Given the description of an element on the screen output the (x, y) to click on. 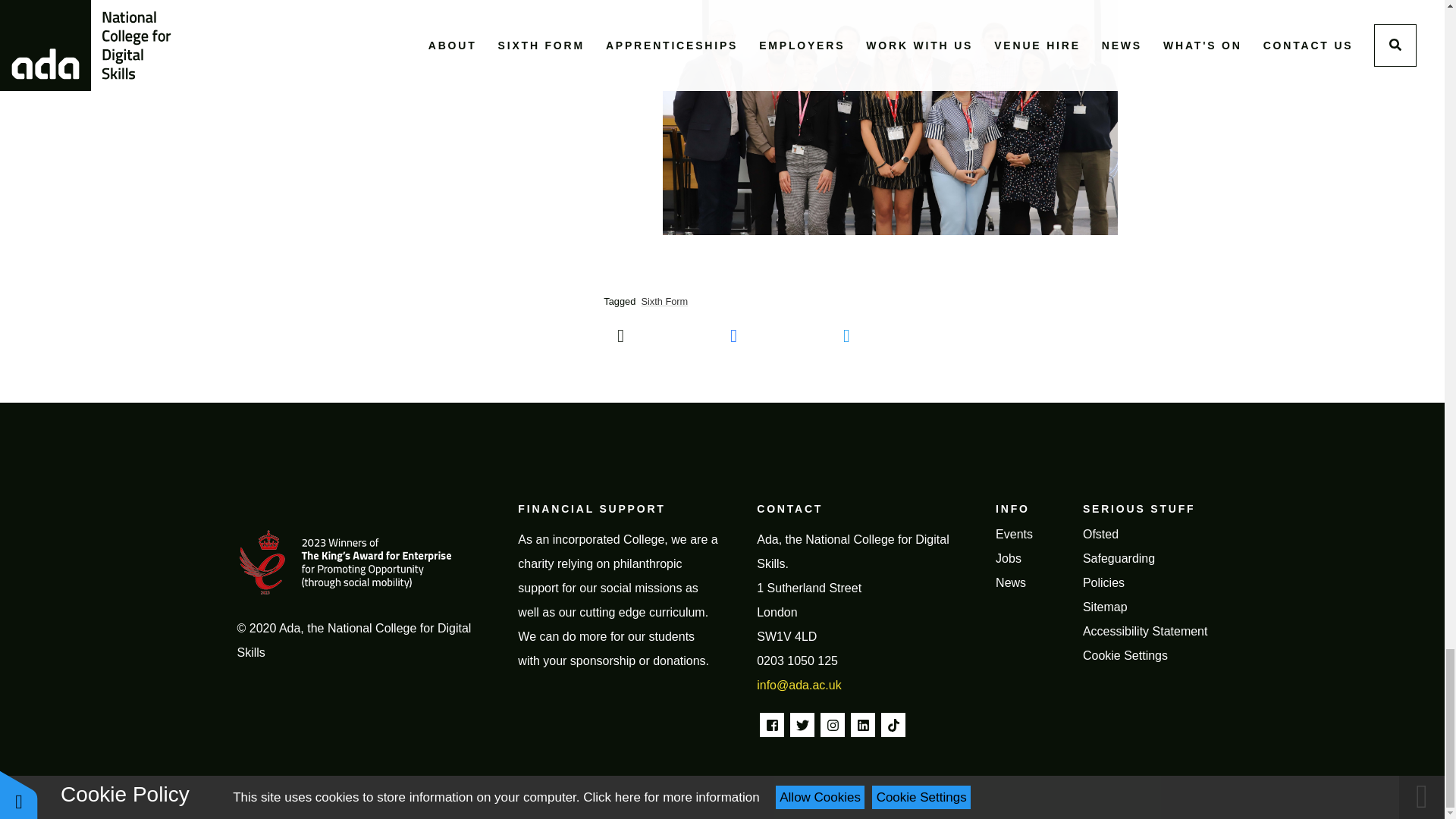
Cookie Settings (1125, 655)
